Given the description of an element on the screen output the (x, y) to click on. 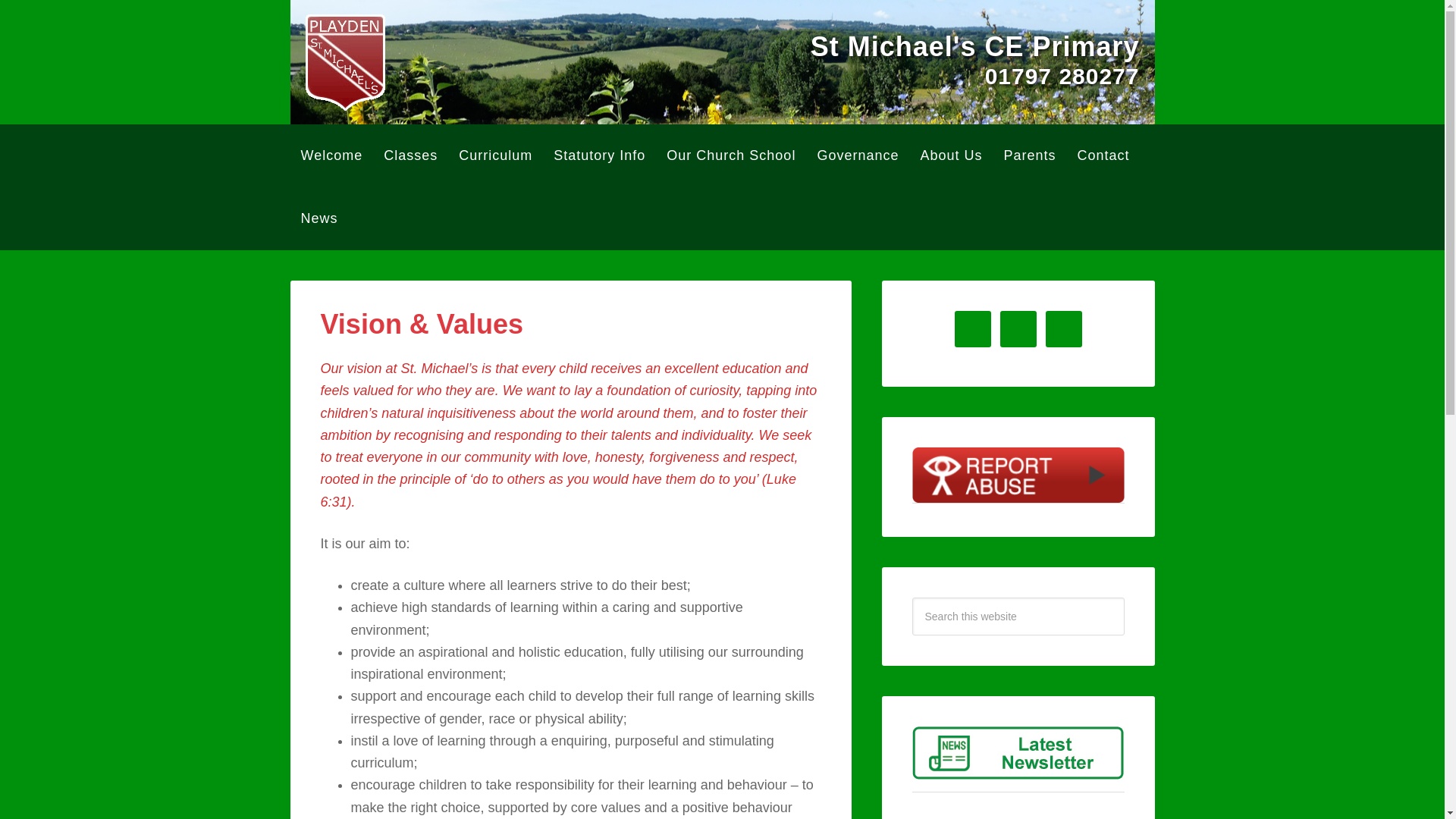
Curriculum (495, 155)
Classes (410, 155)
Statutory Info (599, 155)
Welcome (330, 155)
Latest Newsletter (1017, 752)
Our Church School (731, 155)
